Given the description of an element on the screen output the (x, y) to click on. 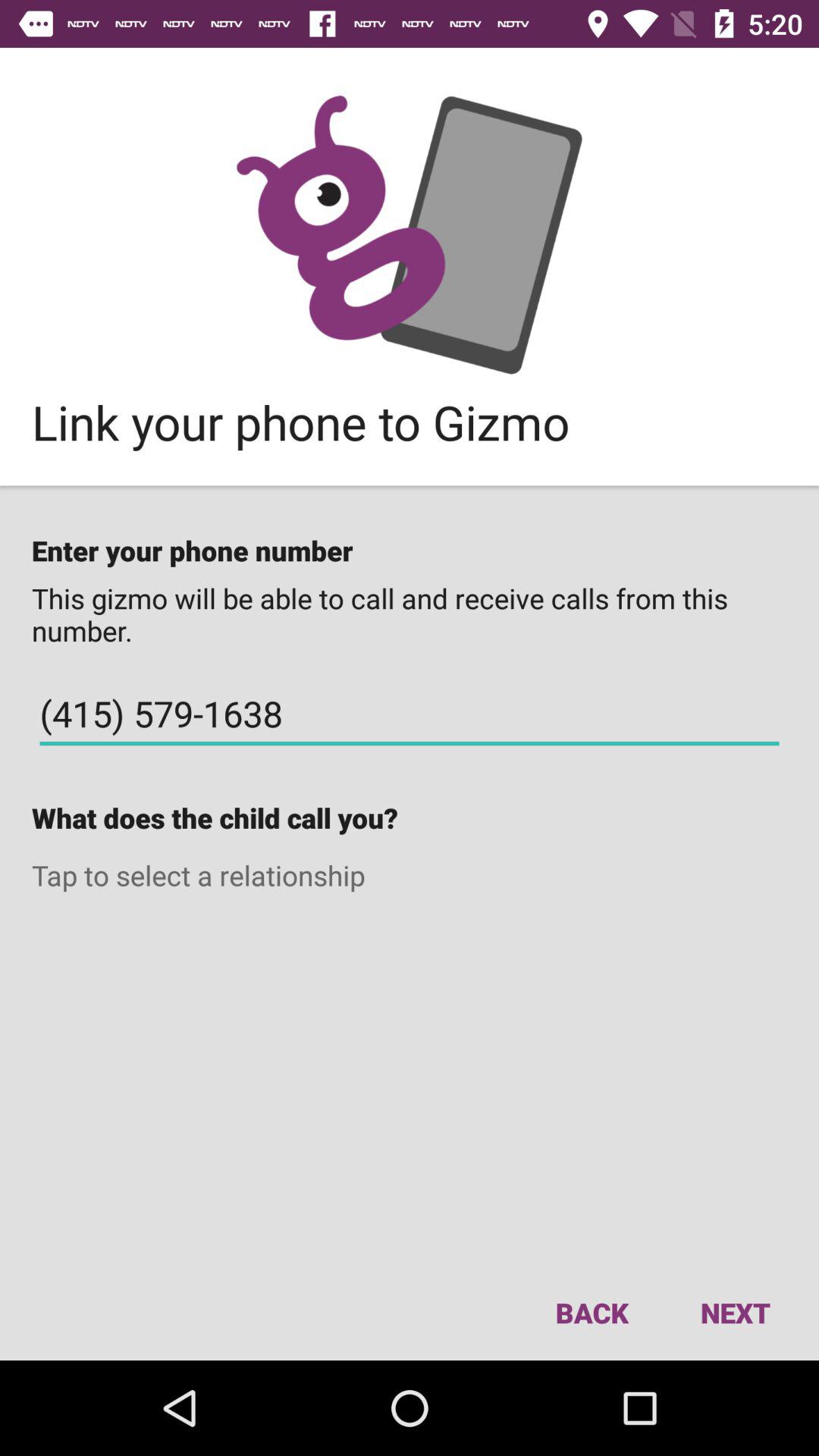
choose the icon to the right of the back icon (735, 1312)
